Given the description of an element on the screen output the (x, y) to click on. 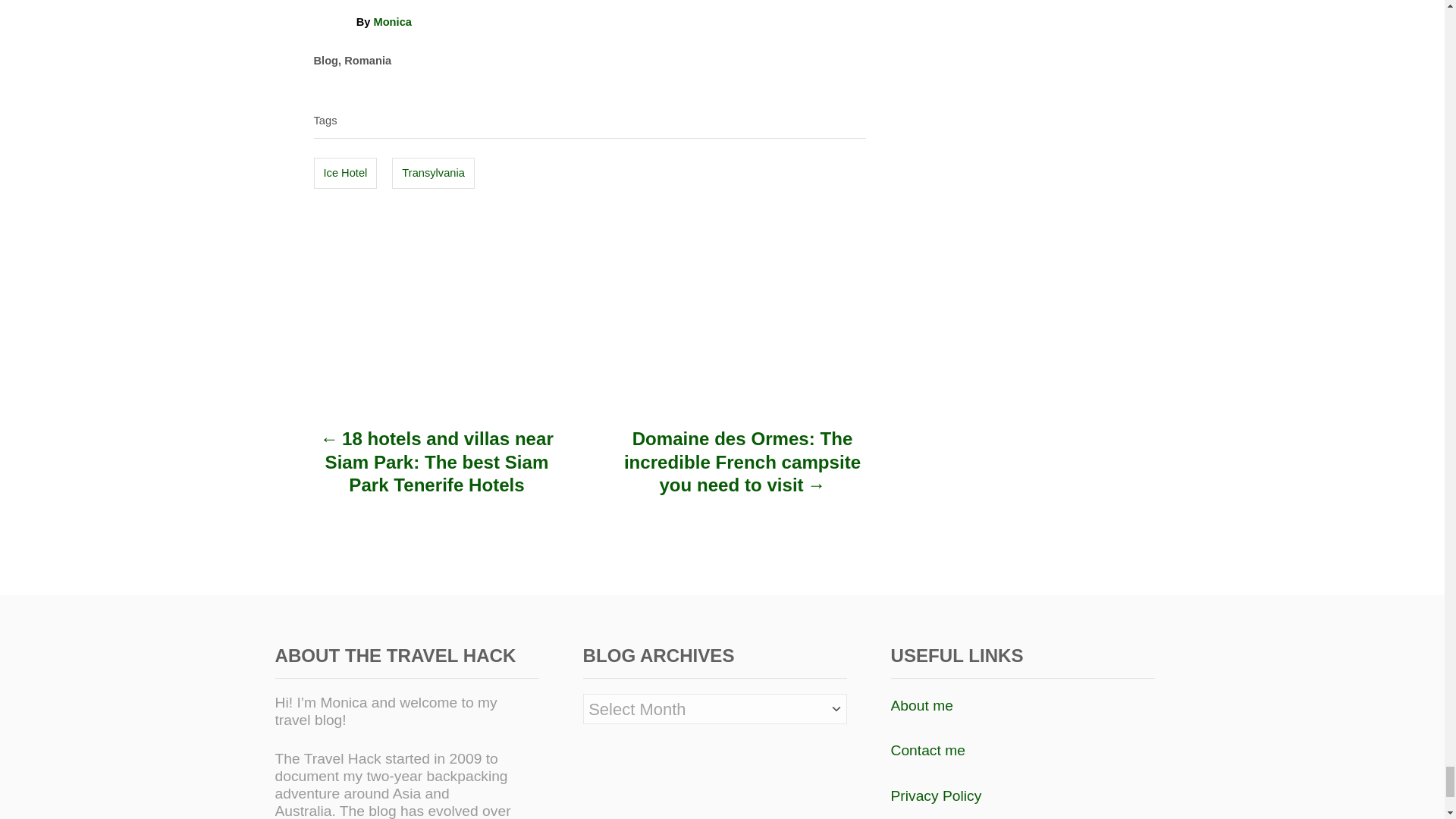
Privacy Policy (935, 795)
Contact me (926, 750)
Monica (392, 21)
Ice Hotel (345, 173)
Blog (326, 60)
Transylvania (432, 173)
About me (920, 705)
Romania (367, 60)
